Given the description of an element on the screen output the (x, y) to click on. 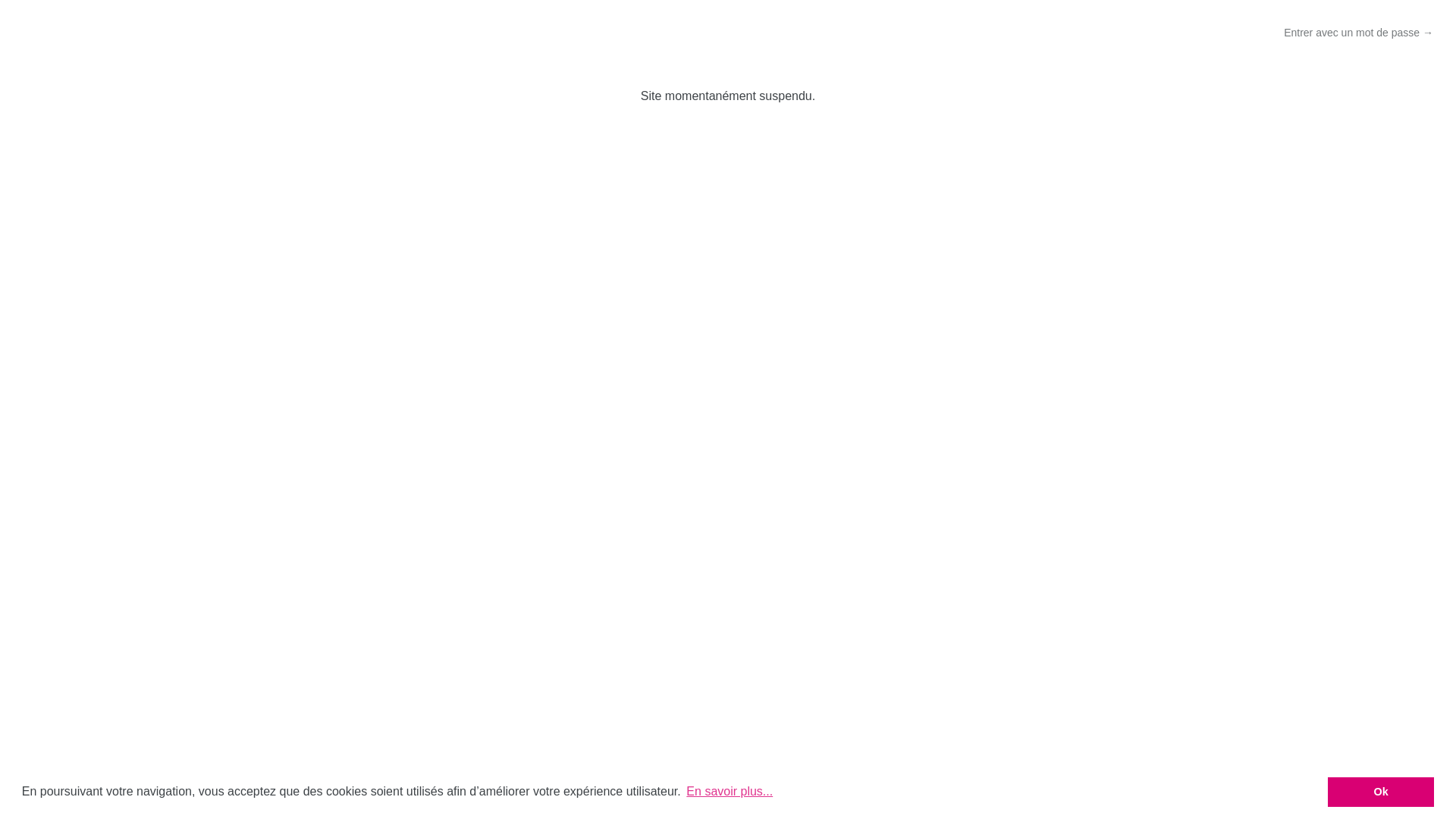
Ok Element type: text (1380, 791)
En savoir plus... Element type: text (729, 791)
